Given the description of an element on the screen output the (x, y) to click on. 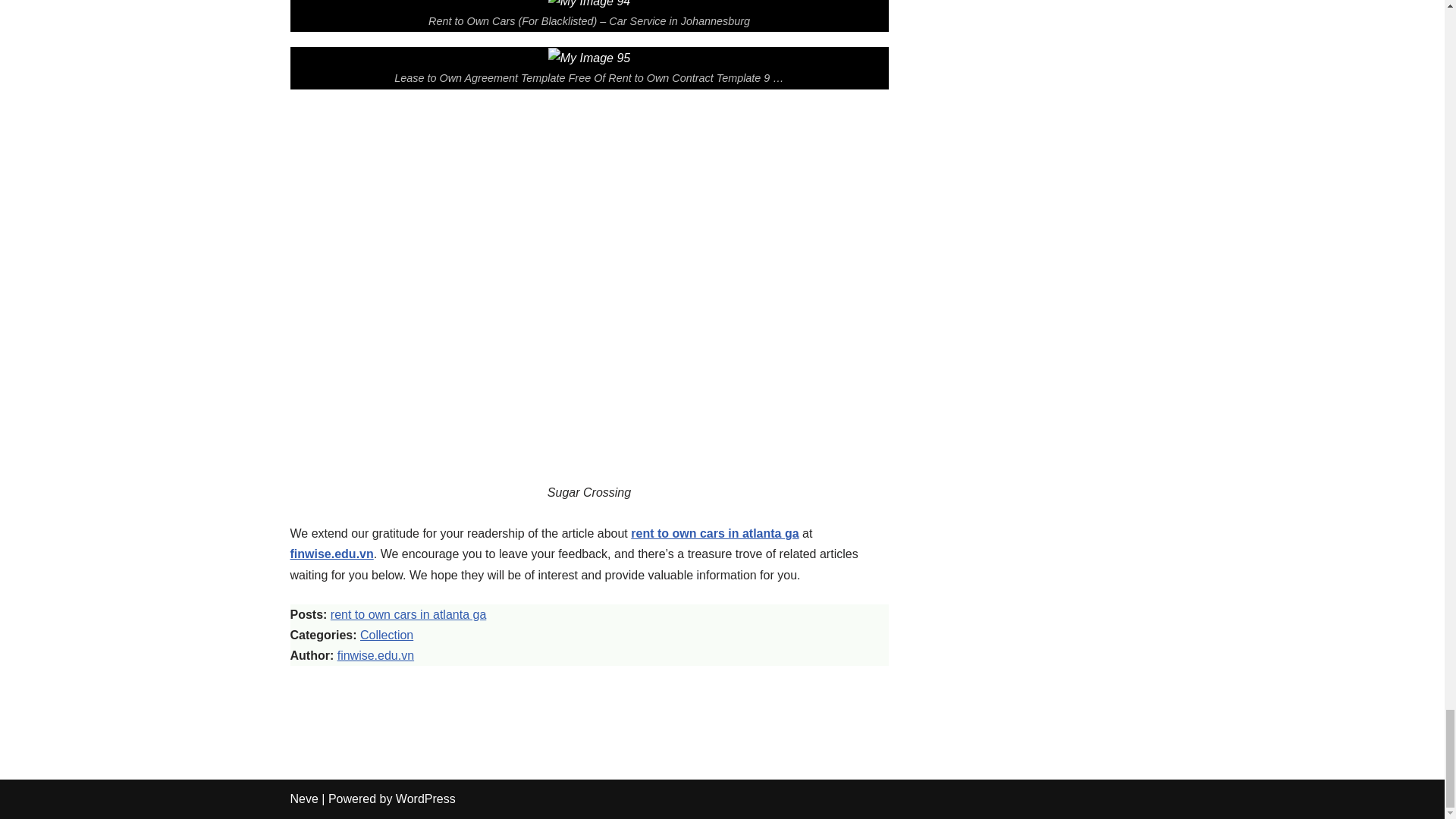
Collection (386, 634)
finwise.edu.vn (375, 655)
finwise.edu.vn (330, 553)
Neve (303, 798)
rent to own cars in atlanta ga (713, 533)
WordPress (425, 798)
rent to own cars in atlanta ga (408, 614)
